Given the description of an element on the screen output the (x, y) to click on. 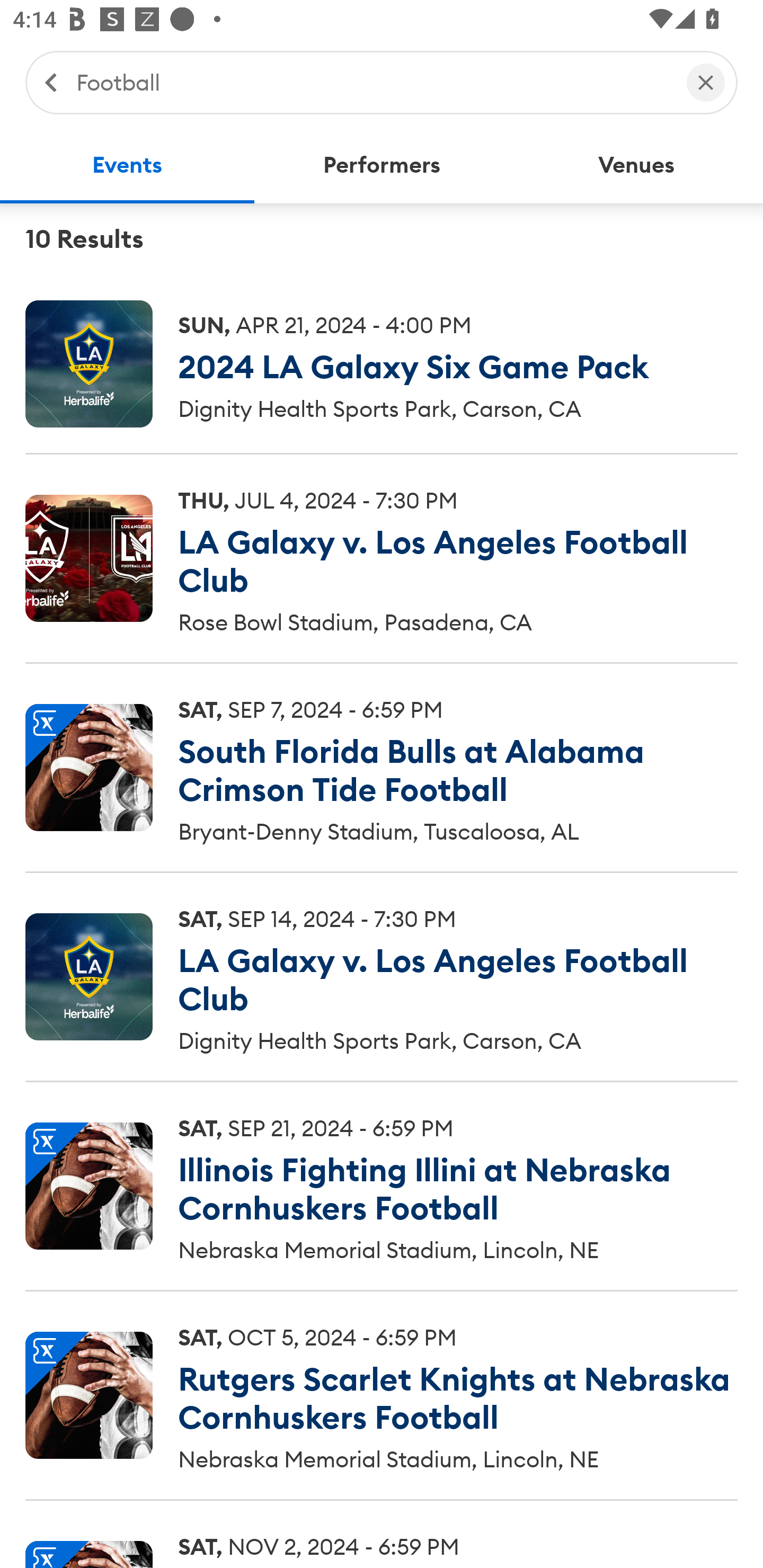
Football (371, 81)
Clear Search (705, 81)
Performers (381, 165)
Venues (635, 165)
